Given the description of an element on the screen output the (x, y) to click on. 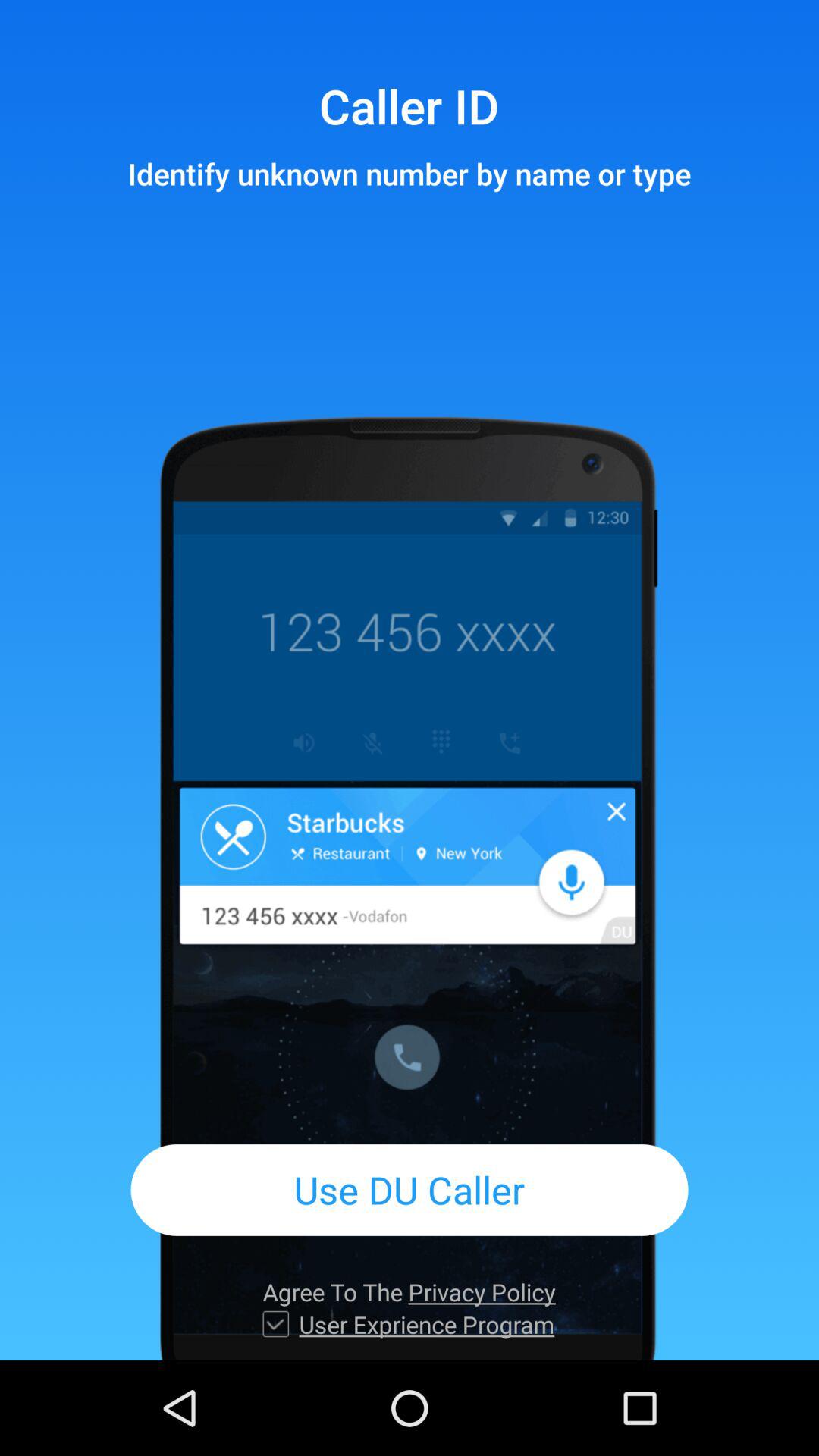
flip until agree to the icon (408, 1291)
